Given the description of an element on the screen output the (x, y) to click on. 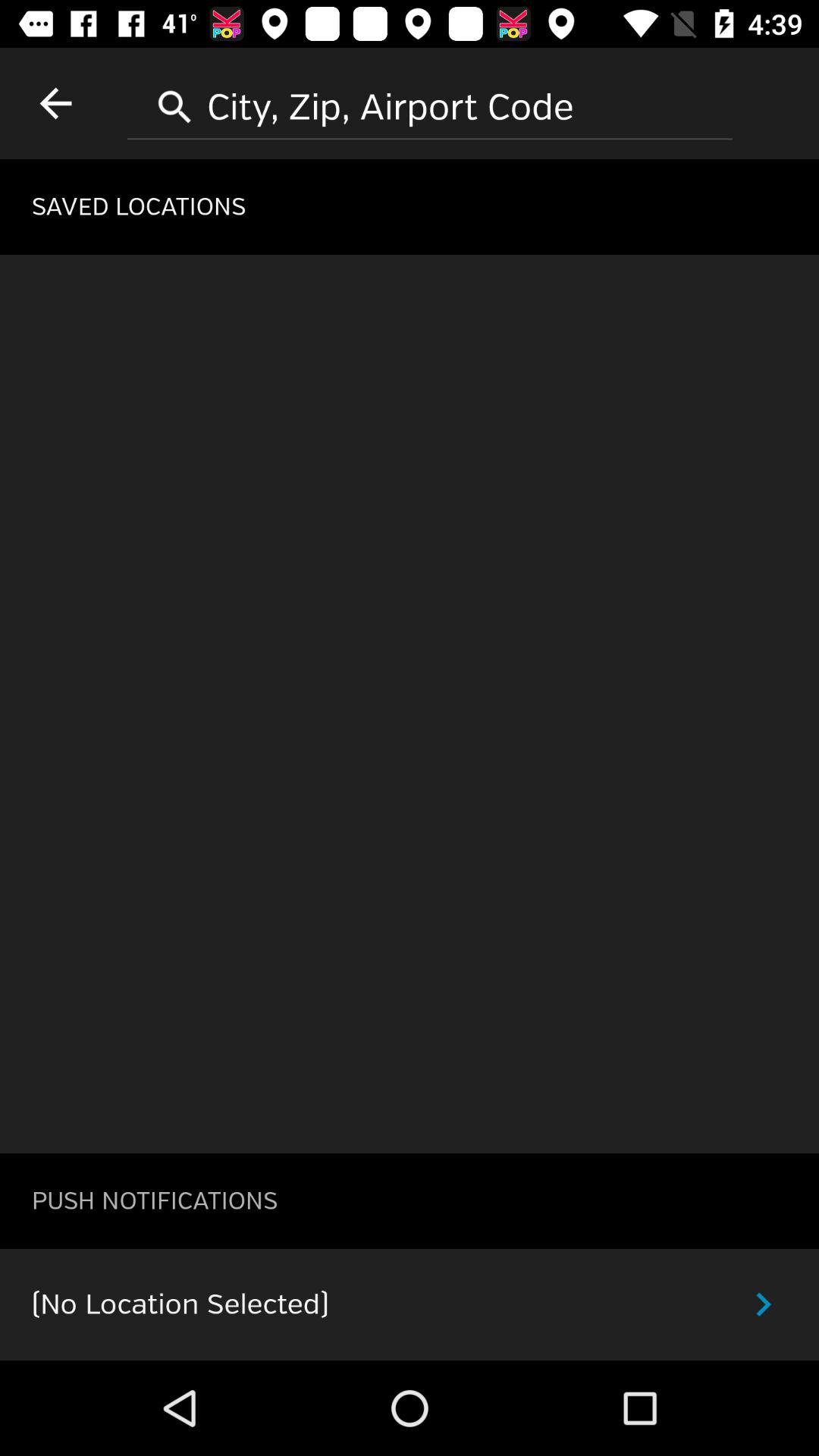
search by city zip code or airport code (429, 102)
